Given the description of an element on the screen output the (x, y) to click on. 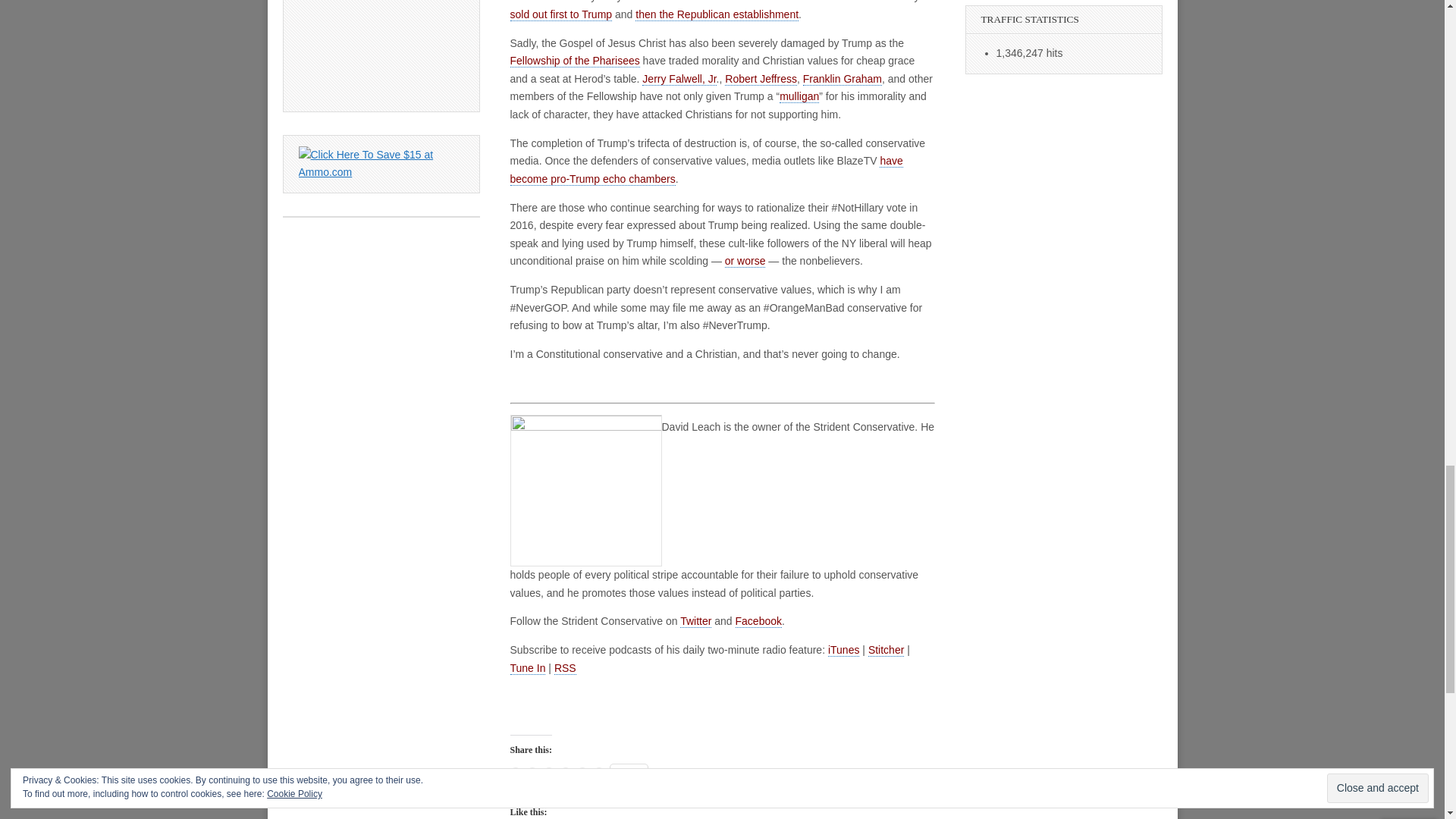
Click to share on Facebook (514, 772)
Click to share on Tumblr (598, 772)
Click to share on LinkedIn (548, 772)
Click to share on Pinterest (564, 772)
Click to share on Twitter (531, 772)
Click to share on Reddit (581, 772)
